Given the description of an element on the screen output the (x, y) to click on. 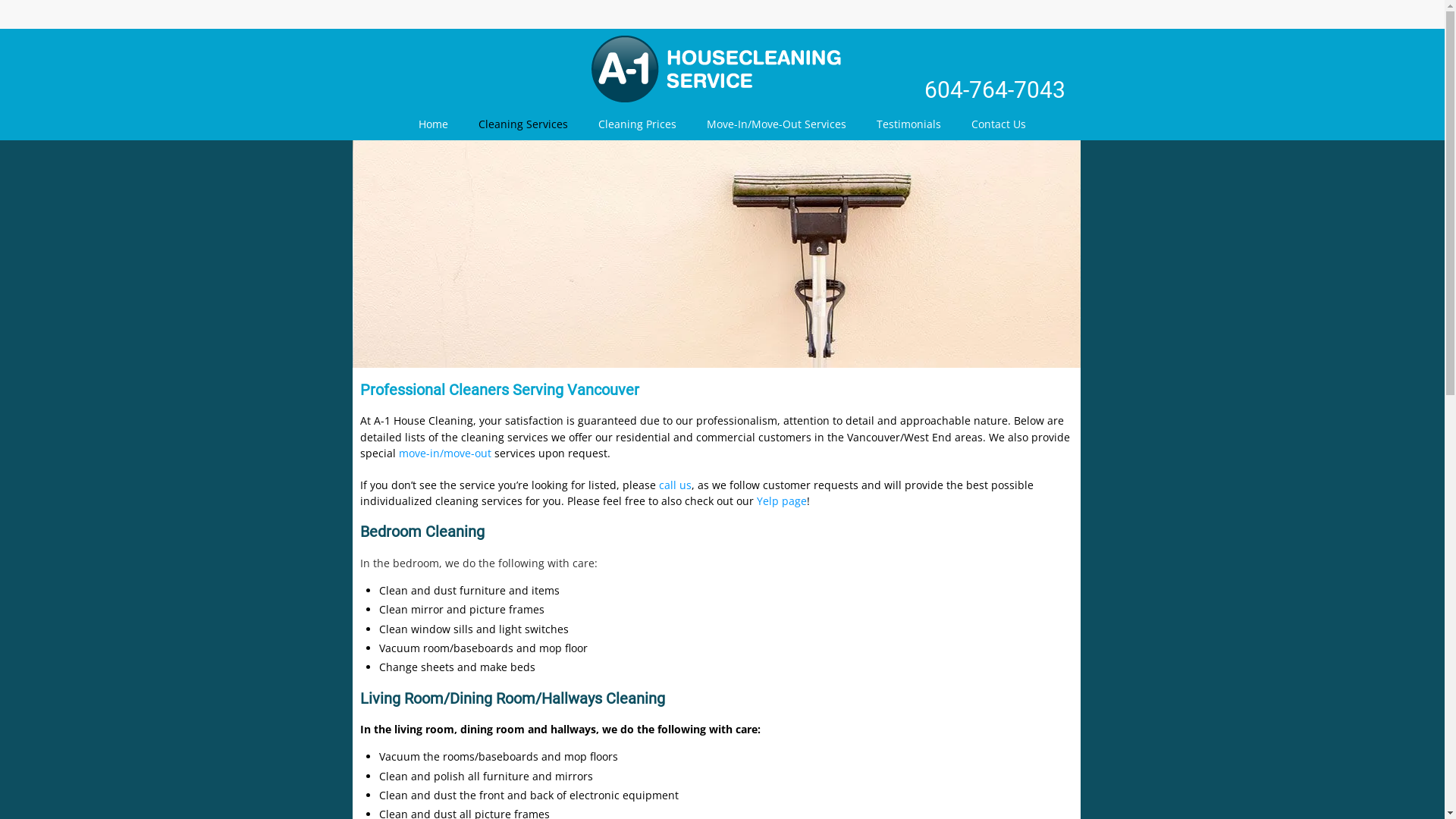
Embedded Content Element type: hover (936, 15)
604-764-7043 Element type: text (994, 89)
Cleaning Services Element type: text (523, 123)
 move-in/move-out Element type: text (443, 452)
call us Element type: text (672, 484)
Cleaning Prices Element type: text (637, 123)
Testimonials Element type: text (908, 123)
Home Element type: text (433, 123)
Contact Us Element type: text (998, 123)
Embedded Content Element type: hover (1060, 19)
Move-In/Move-Out Services Element type: text (776, 123)
Embedded Content Element type: hover (994, 10)
Yelp page Element type: text (781, 500)
